Given the description of an element on the screen output the (x, y) to click on. 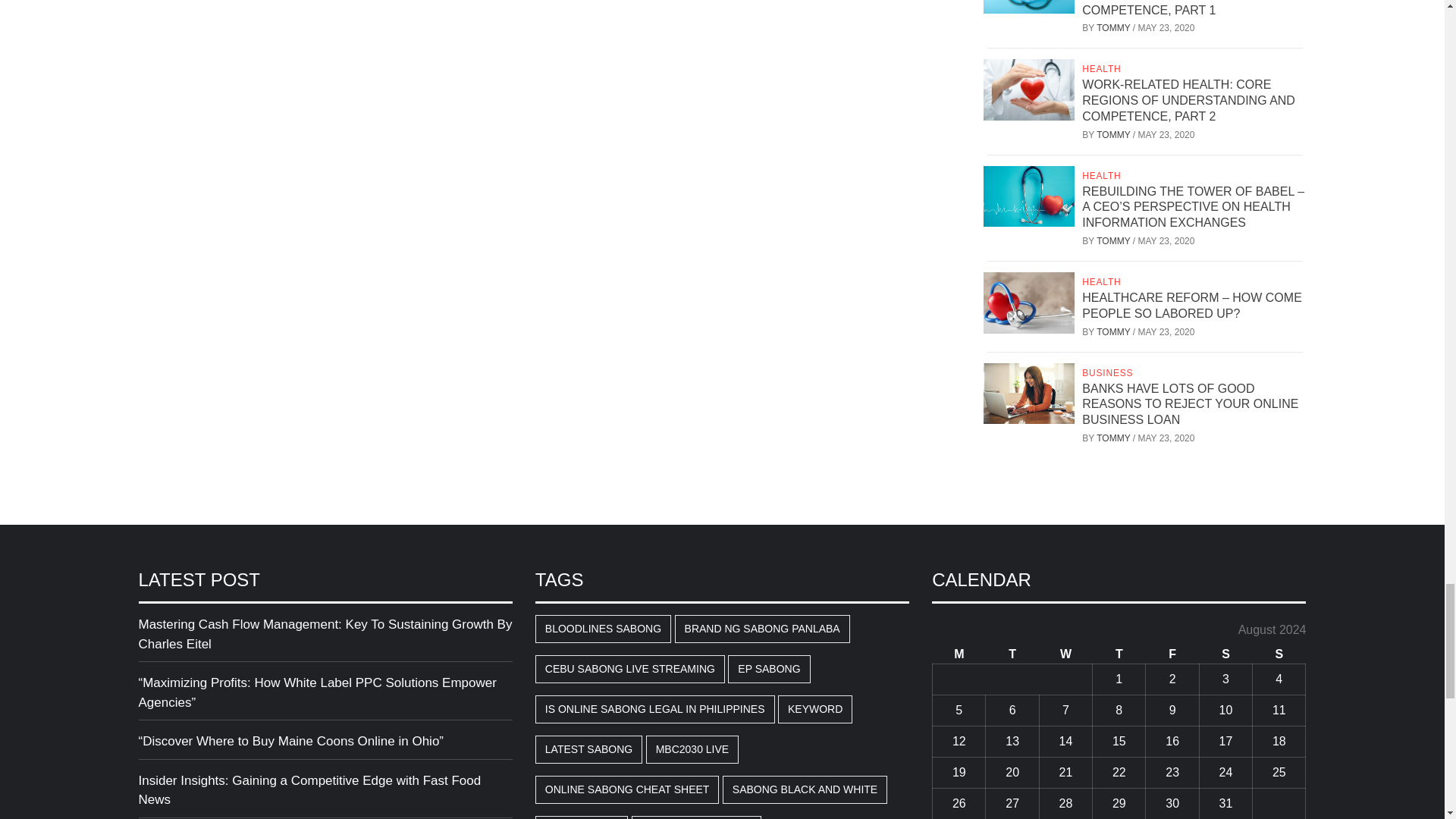
Tuesday (1012, 654)
Wednesday (1065, 654)
Saturday (1225, 654)
Friday (1171, 654)
Thursday (1119, 654)
Sunday (1279, 654)
Monday (959, 654)
